Given the description of an element on the screen output the (x, y) to click on. 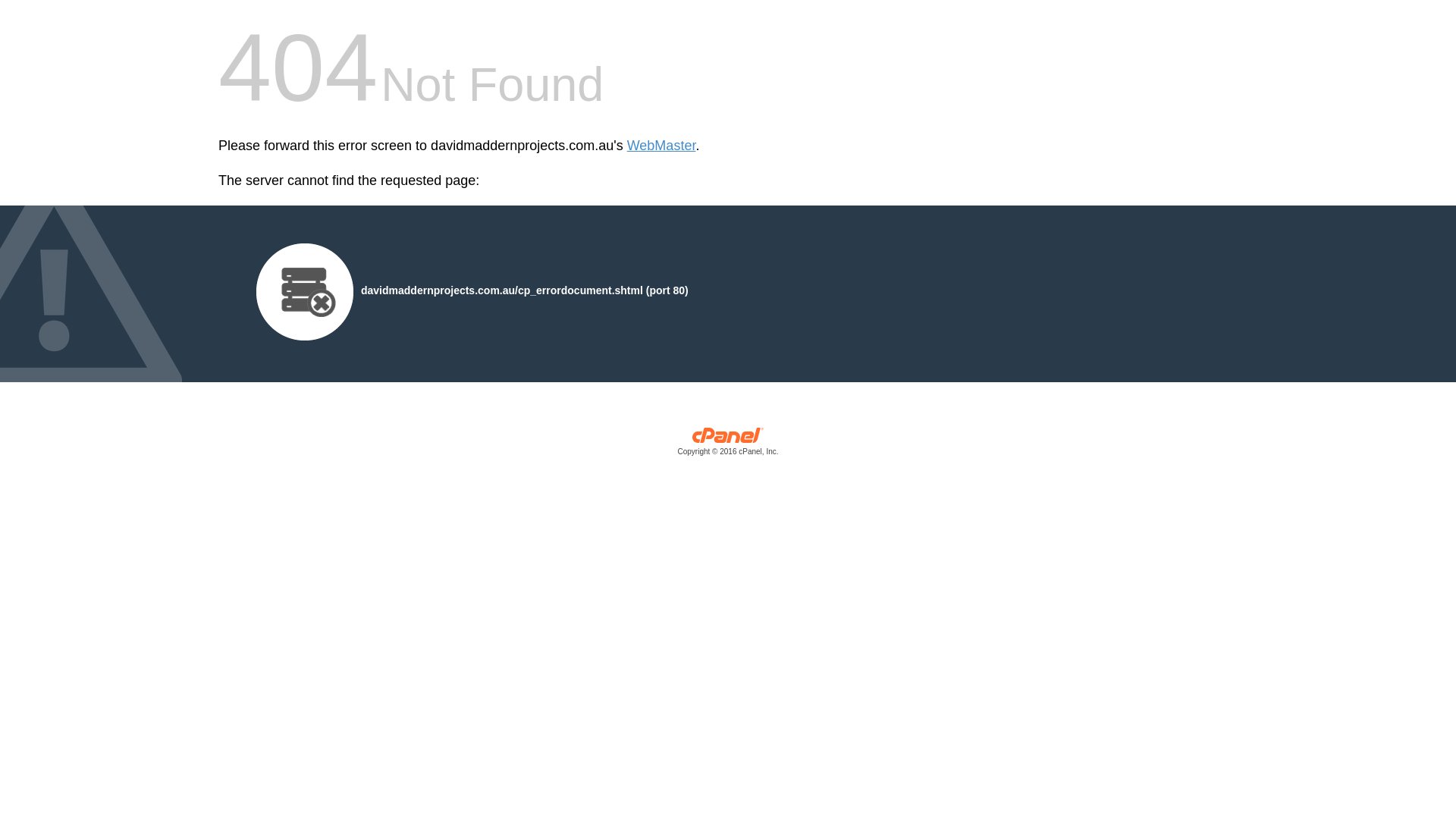
WebMaster Element type: text (661, 145)
